Given the description of an element on the screen output the (x, y) to click on. 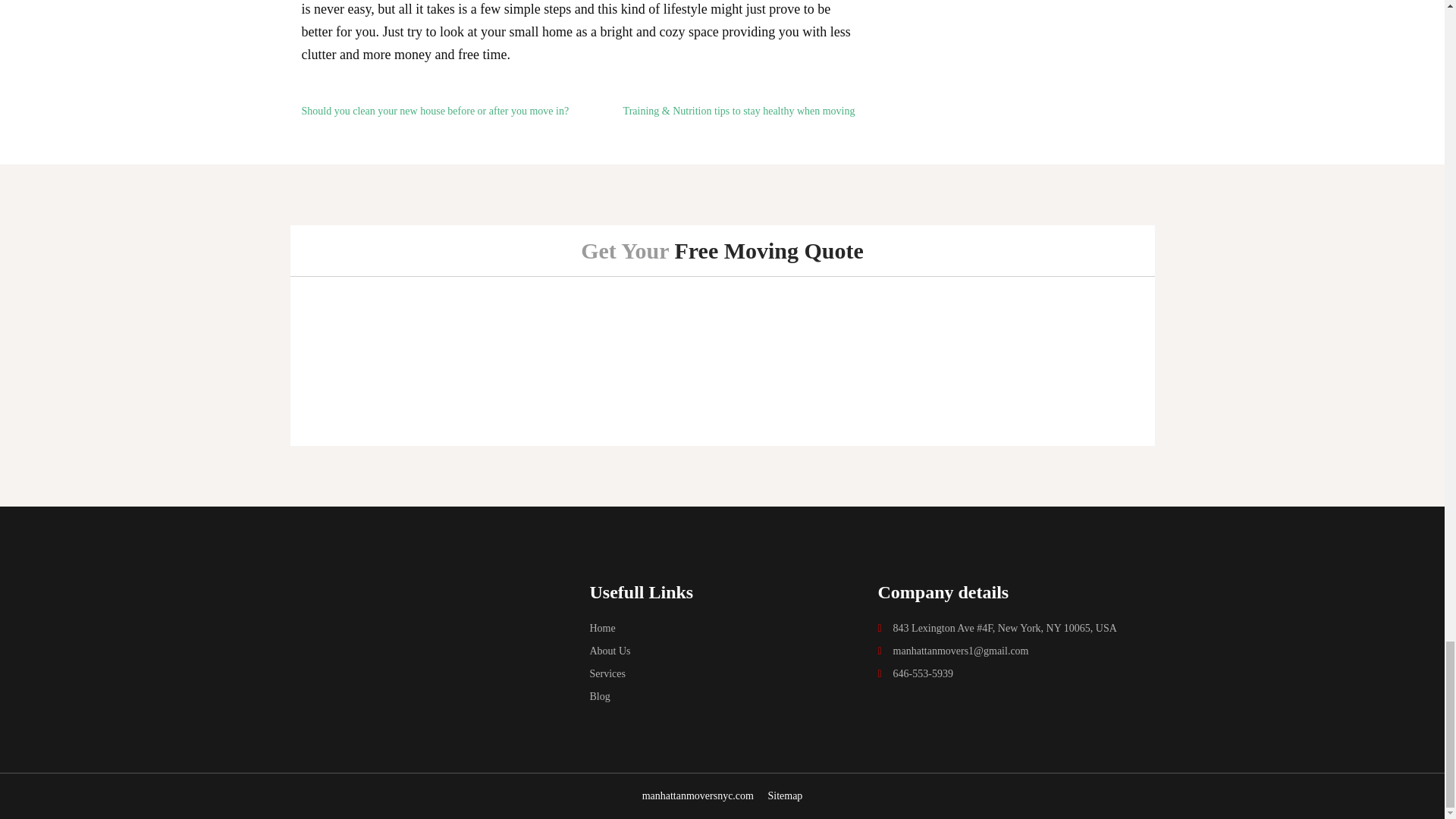
Should you clean your new house before or after you move in? (435, 111)
